Given the description of an element on the screen output the (x, y) to click on. 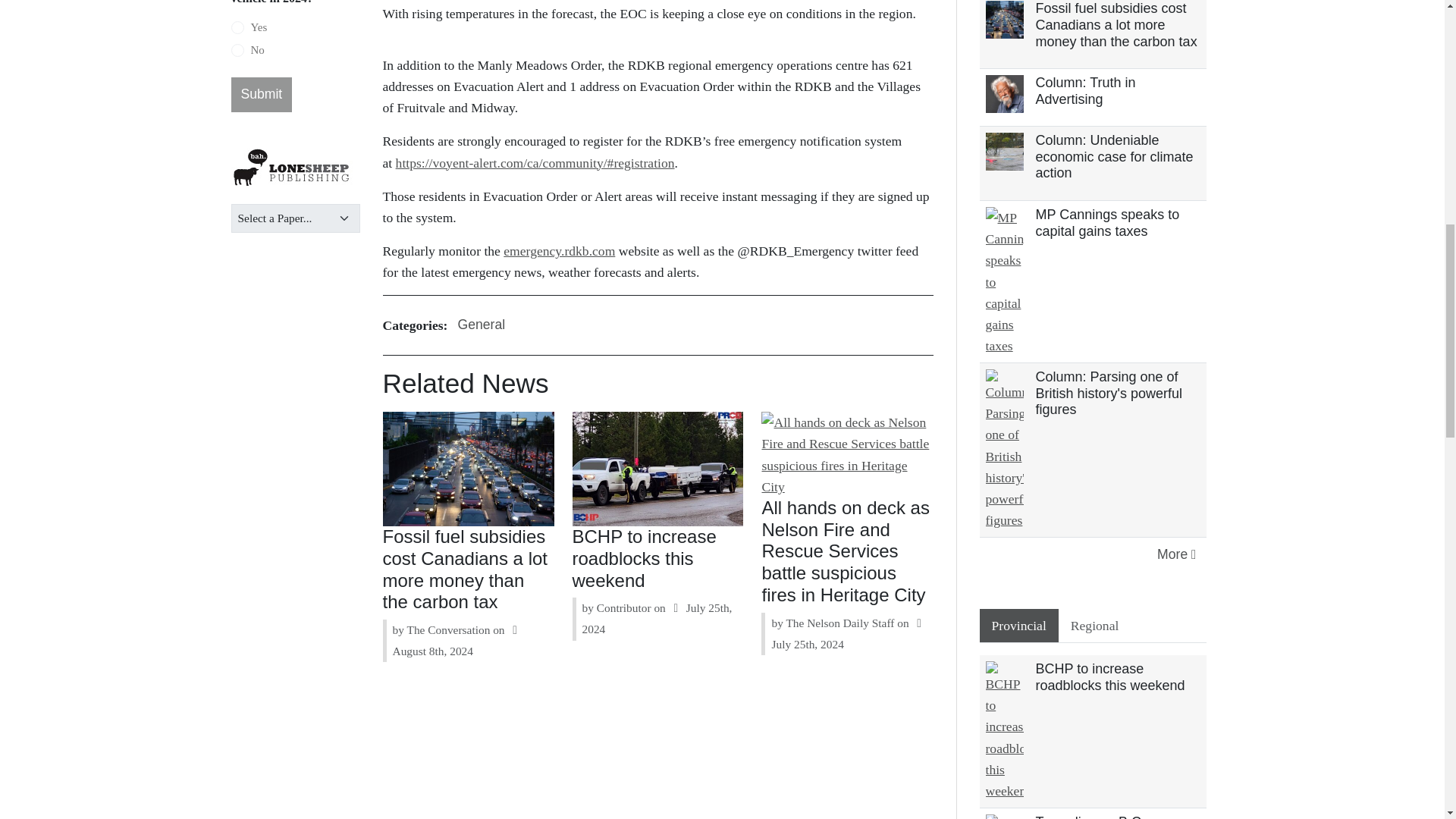
Submit (261, 94)
emergency.rdkb.com (558, 250)
Column: Truth in Advertising (1085, 91)
gpoll135bfdf59 (237, 50)
BCHP to increase roadblocks this weekend (644, 558)
gpoll1892df81e (237, 28)
General (480, 325)
